Given the description of an element on the screen output the (x, y) to click on. 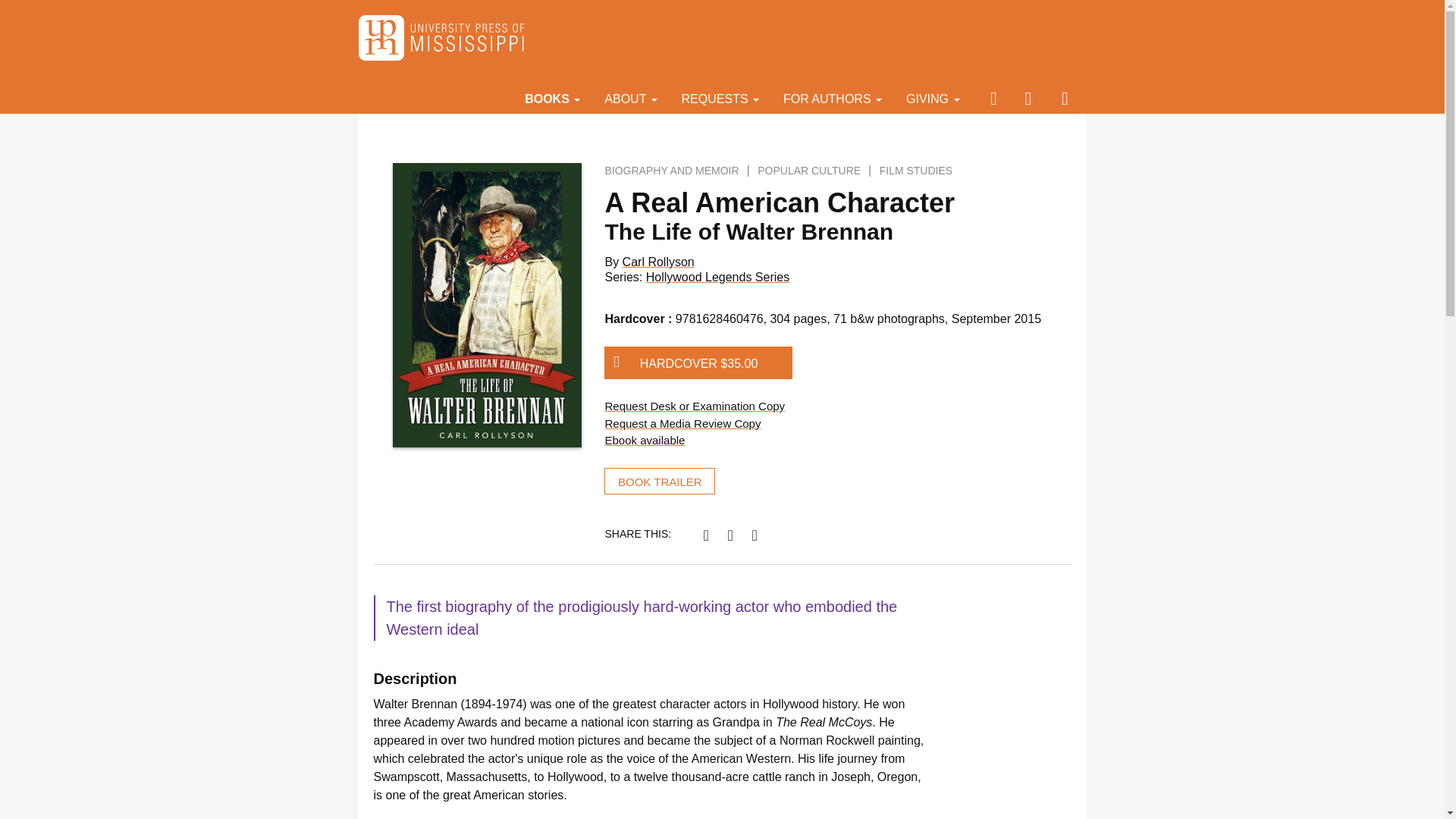
REQUESTS (720, 97)
FOR AUTHORS (832, 97)
ABOUT (630, 97)
BOOKS (552, 97)
